Given the description of an element on the screen output the (x, y) to click on. 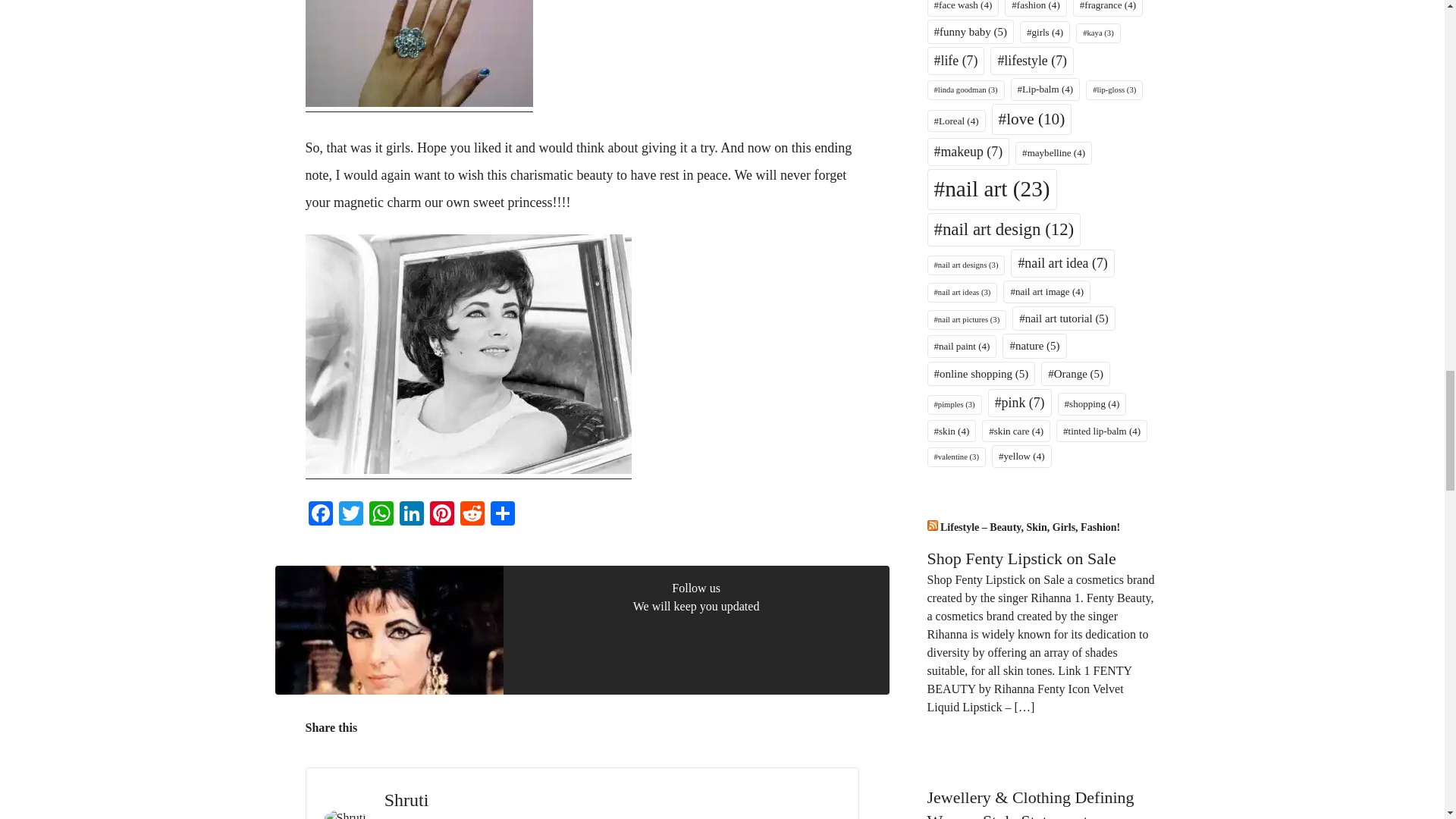
Reddit (471, 515)
Photo3608 (418, 53)
Twitter (349, 515)
Facebook (319, 515)
elizabeth-taylor (467, 354)
Pinterest (441, 515)
WhatsApp (380, 515)
Share (501, 515)
Shruti (406, 800)
LinkedIn (411, 515)
